Given the description of an element on the screen output the (x, y) to click on. 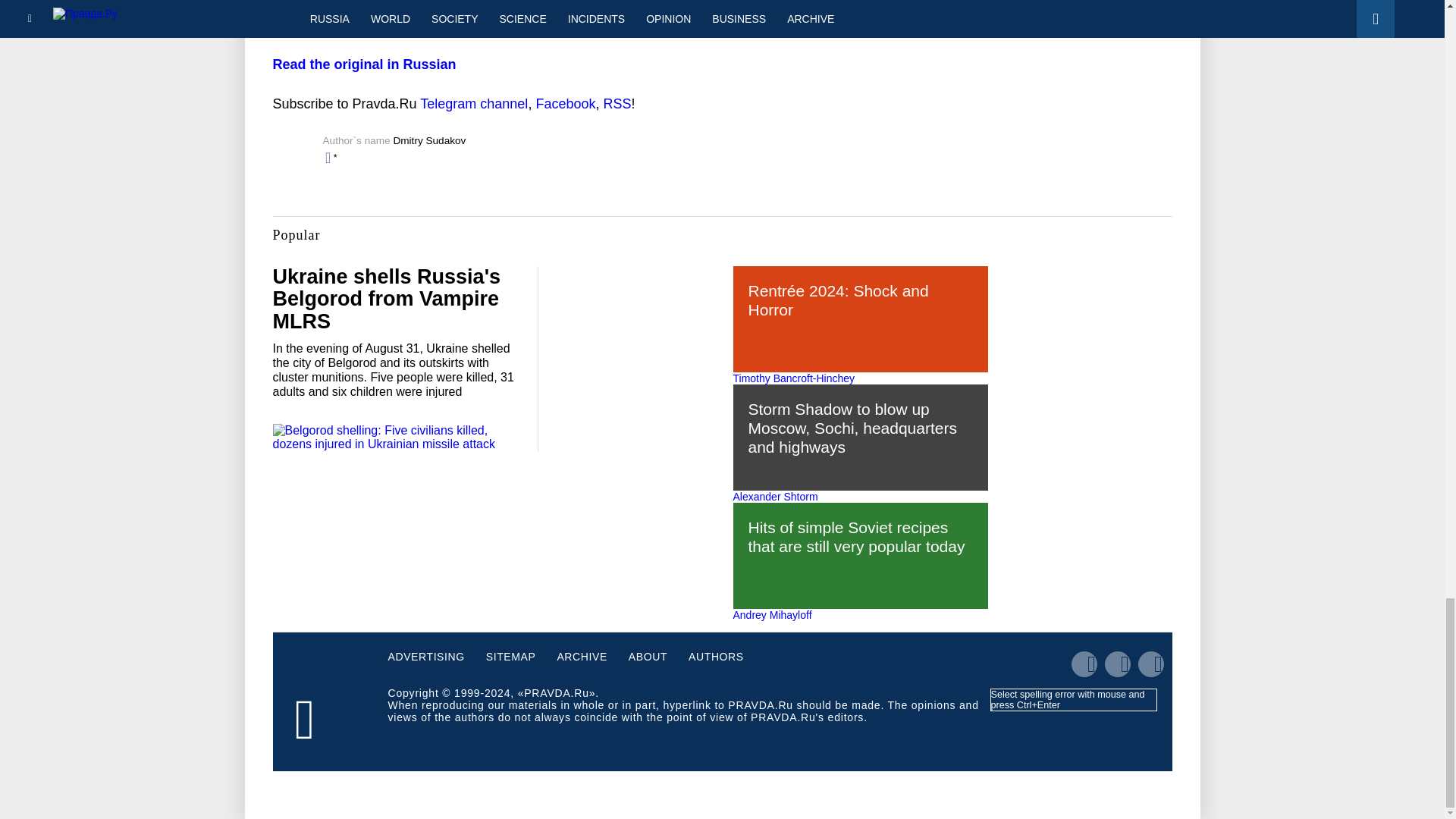
Facebook (565, 103)
Dmitry Sudakov (429, 140)
Telegram channel (473, 103)
RSS (616, 103)
Read the original in Russian (365, 64)
